Given the description of an element on the screen output the (x, y) to click on. 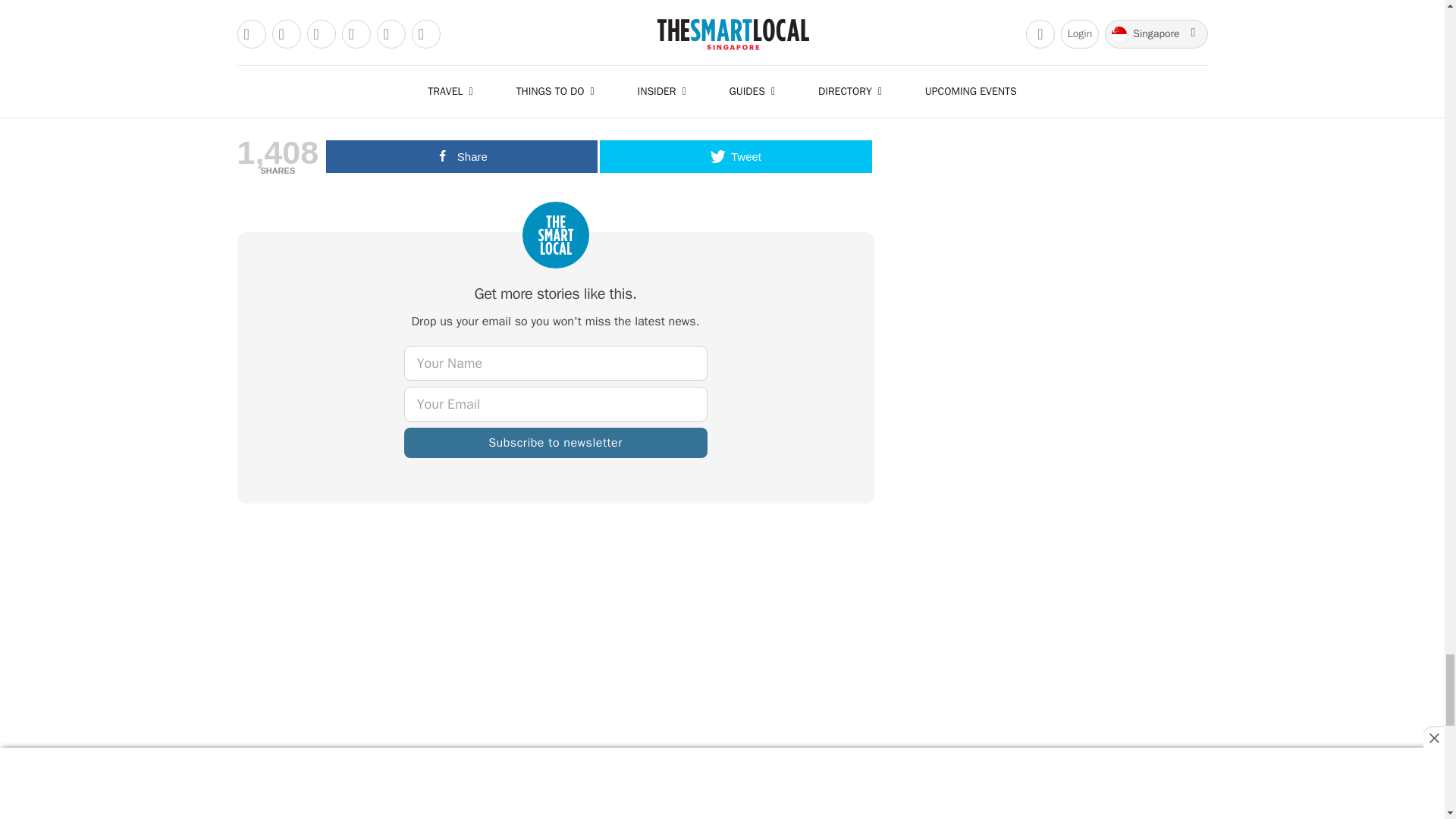
subscribe (554, 442)
